Given the description of an element on the screen output the (x, y) to click on. 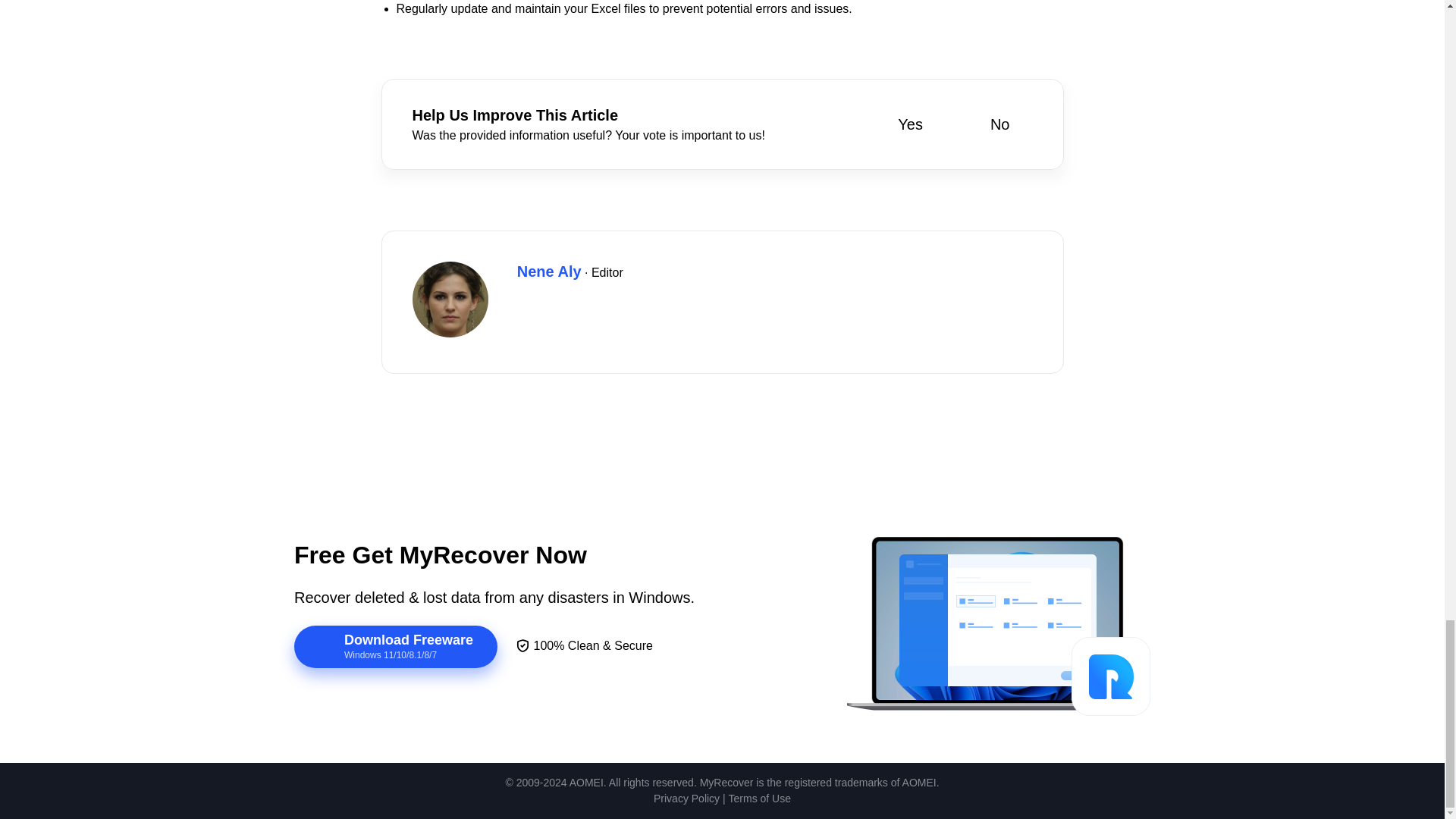
Privacy Policy (686, 798)
Nene Aly (548, 271)
No (989, 124)
Yes (899, 124)
Terms of Use (759, 798)
